Given the description of an element on the screen output the (x, y) to click on. 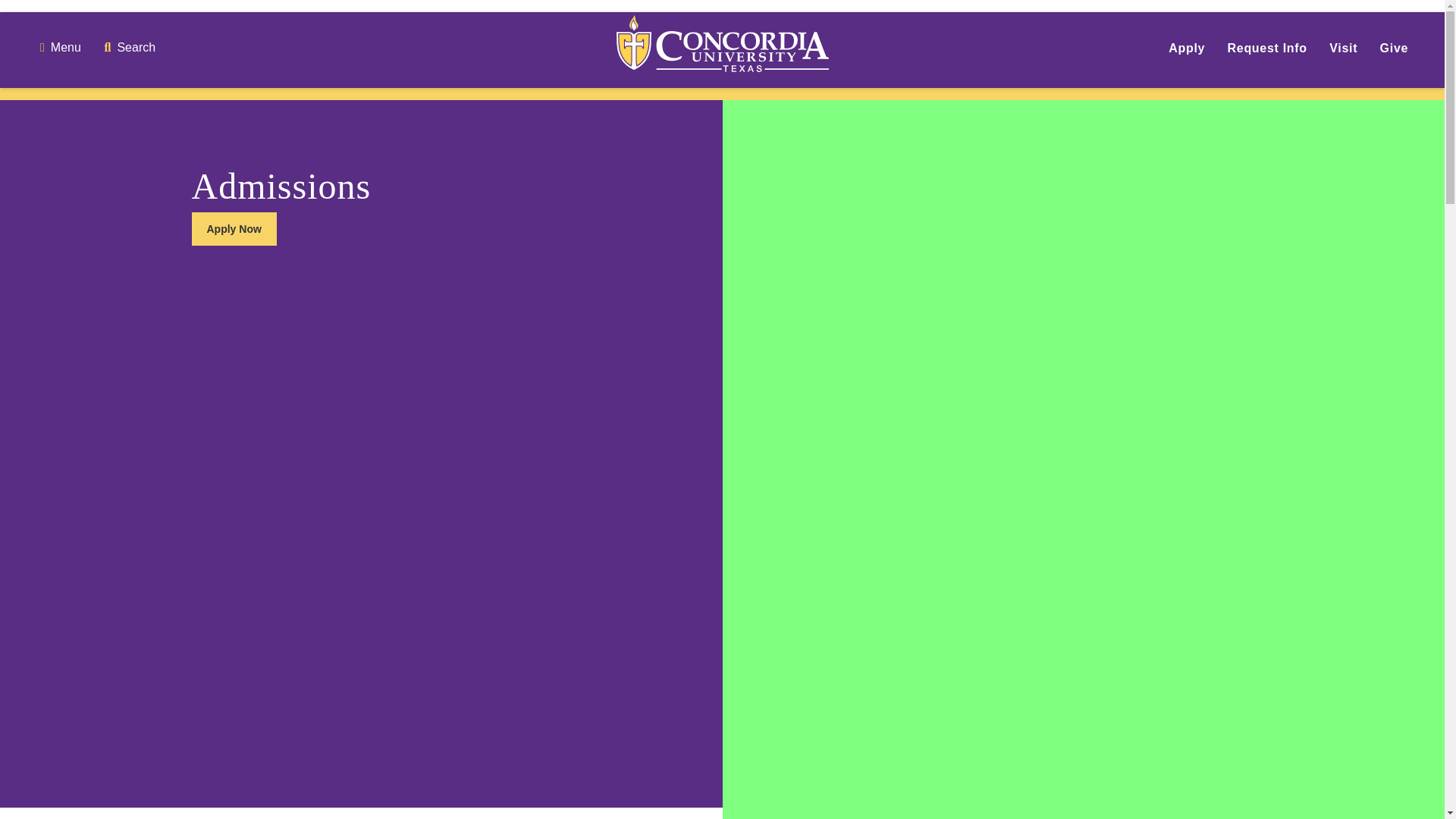
Apply (1187, 47)
Request Info (1267, 47)
Give (1394, 47)
Visit (1342, 47)
Apply to Concordia University Texas (1187, 47)
